Given the description of an element on the screen output the (x, y) to click on. 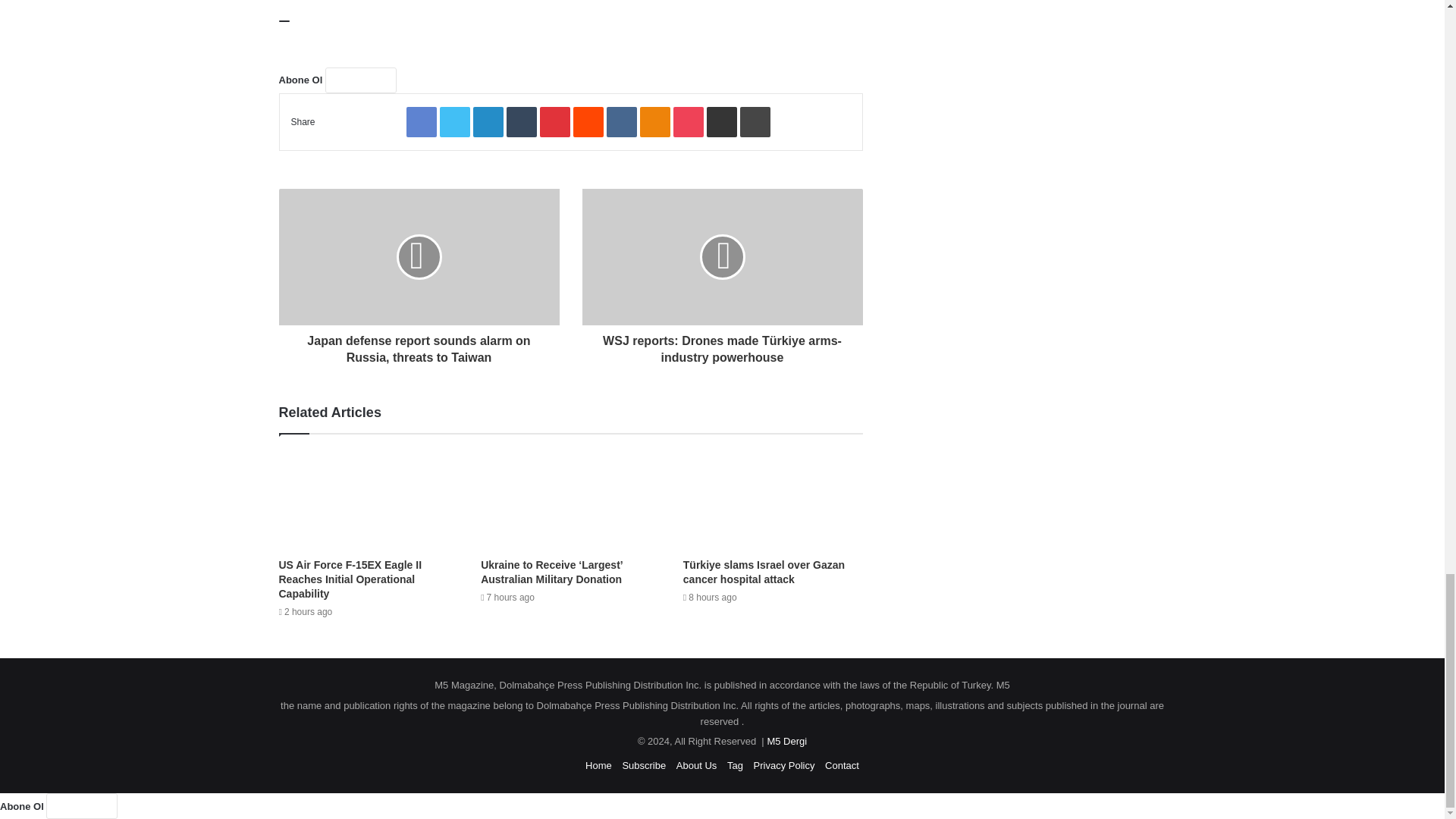
Abone Ol (360, 80)
